Given the description of an element on the screen output the (x, y) to click on. 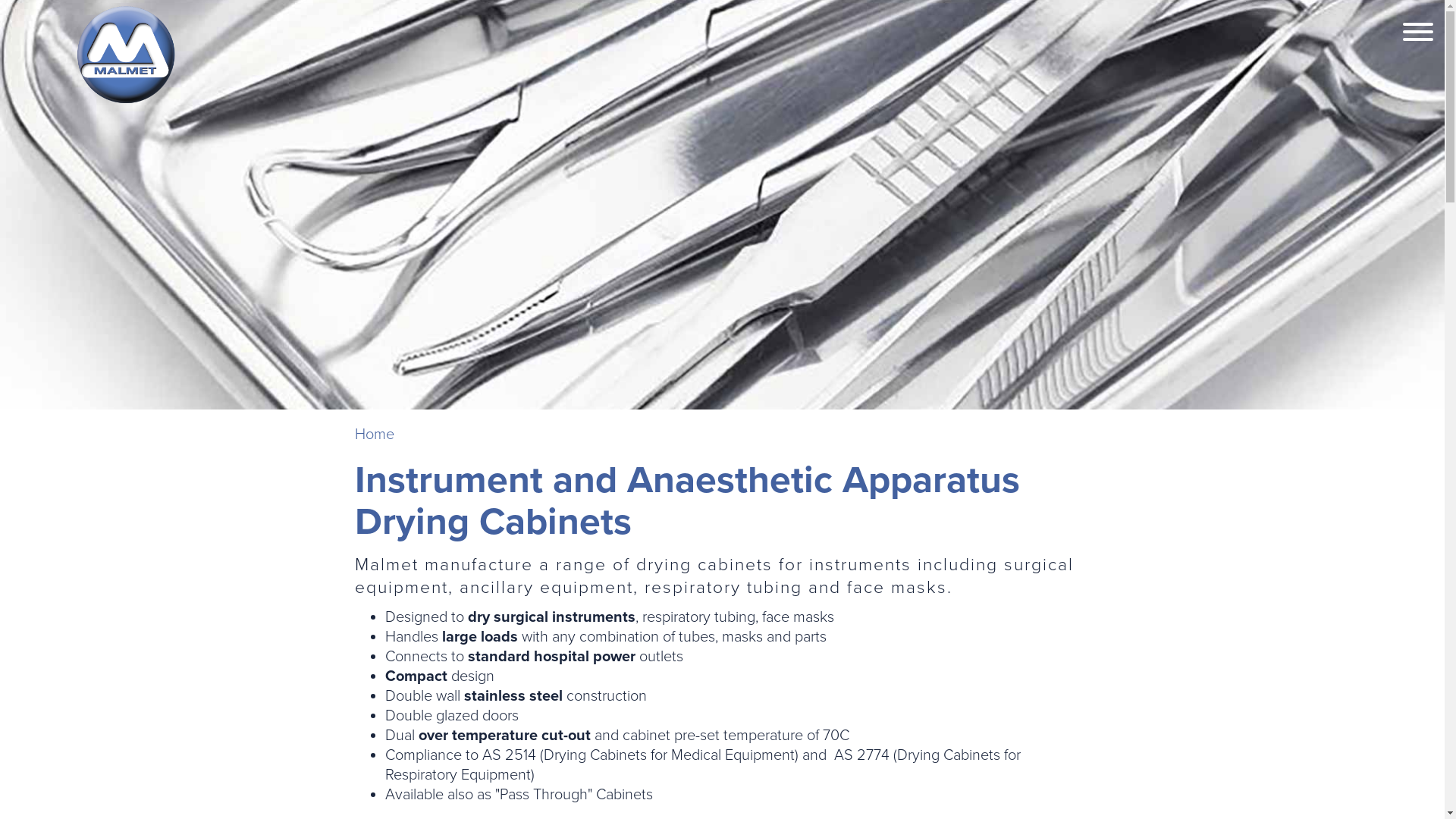
Home Element type: text (374, 434)
